Given the description of an element on the screen output the (x, y) to click on. 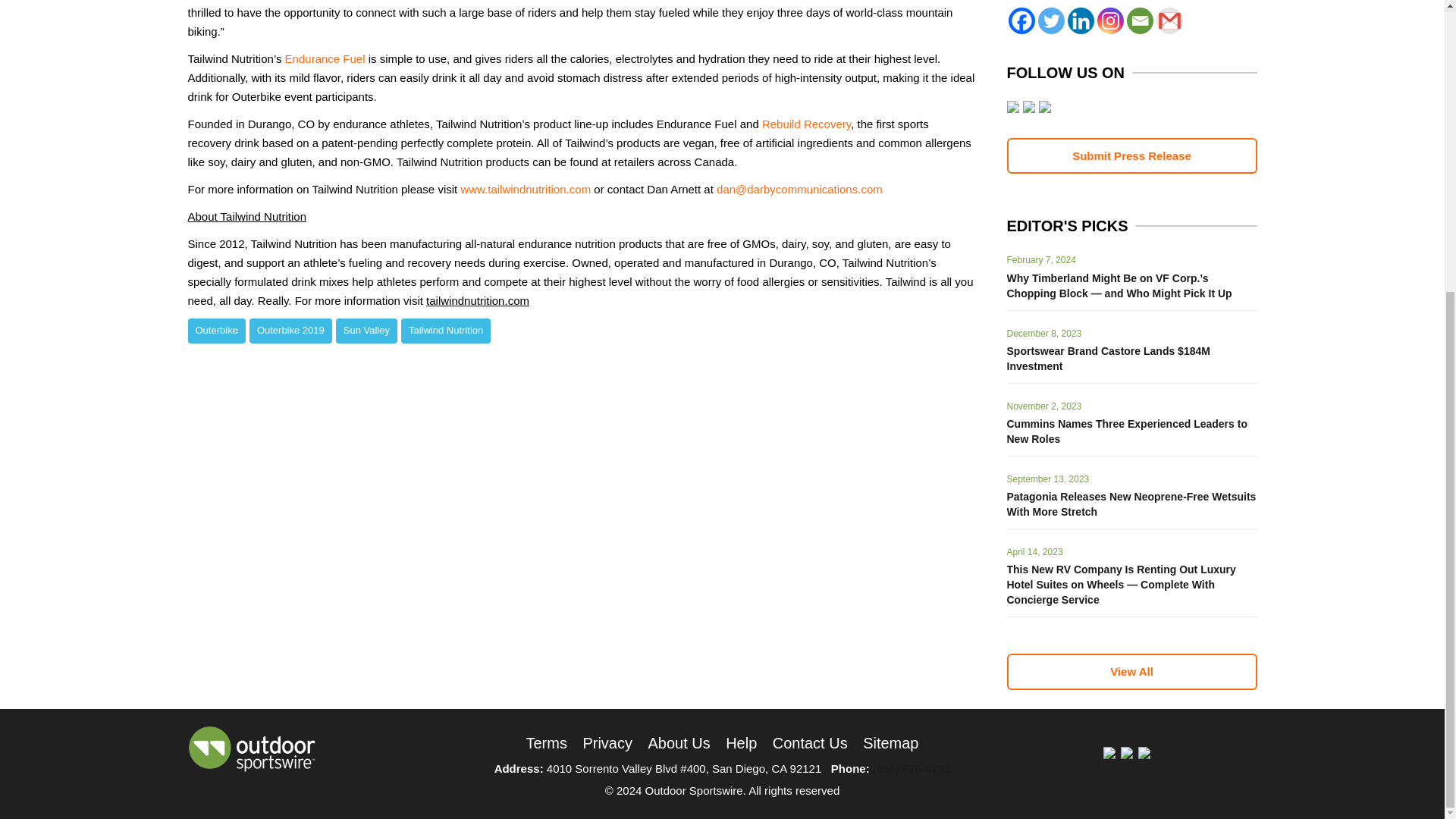
Instagram (1109, 20)
Twitter (1050, 20)
Linkedin (1080, 20)
Facebook (1022, 20)
Email (1139, 20)
Google Gmail (1169, 20)
